Given the description of an element on the screen output the (x, y) to click on. 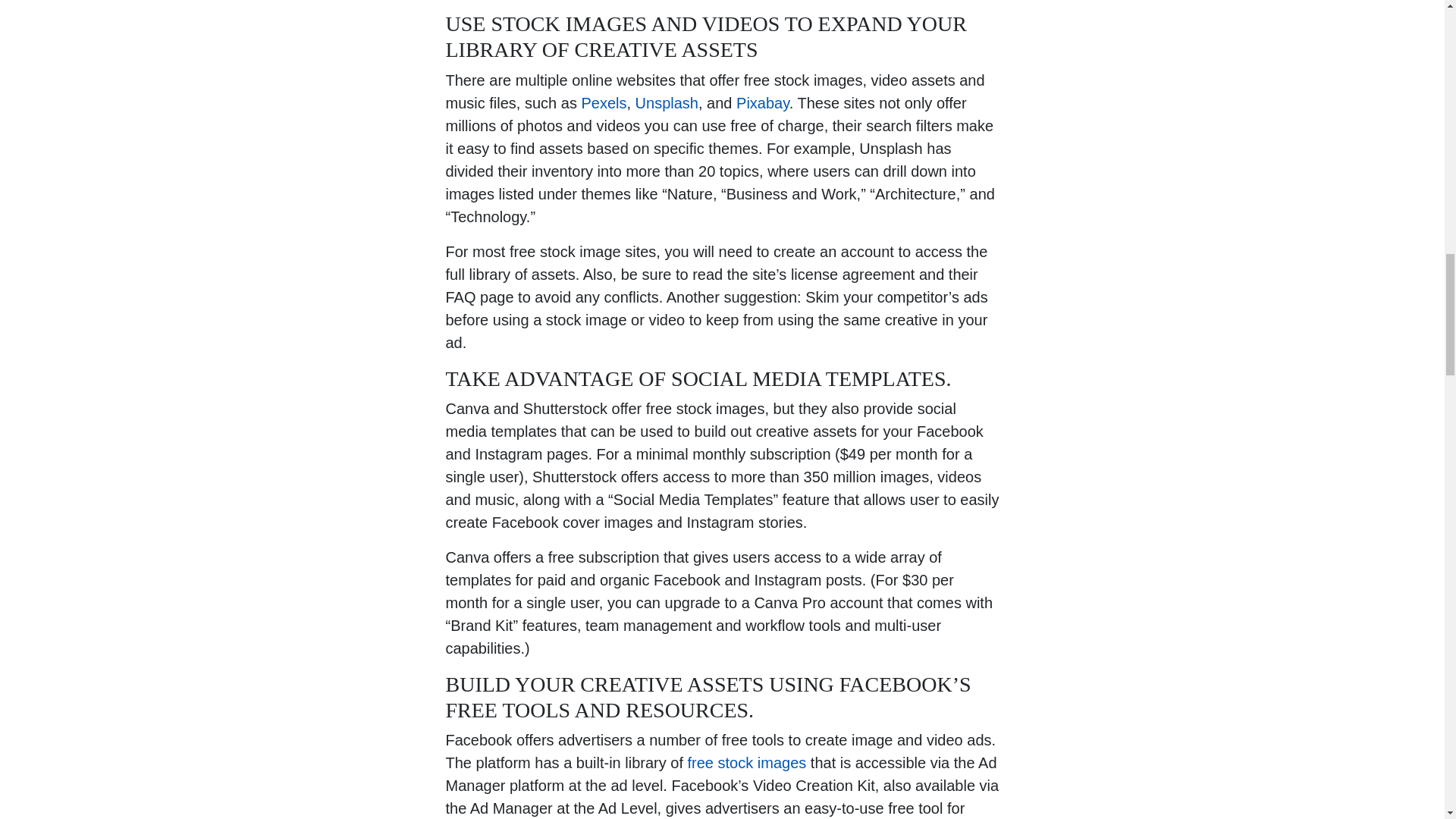
Pexels (603, 102)
Pixabay (762, 102)
free stock images (746, 762)
Unsplash (666, 102)
